Given the description of an element on the screen output the (x, y) to click on. 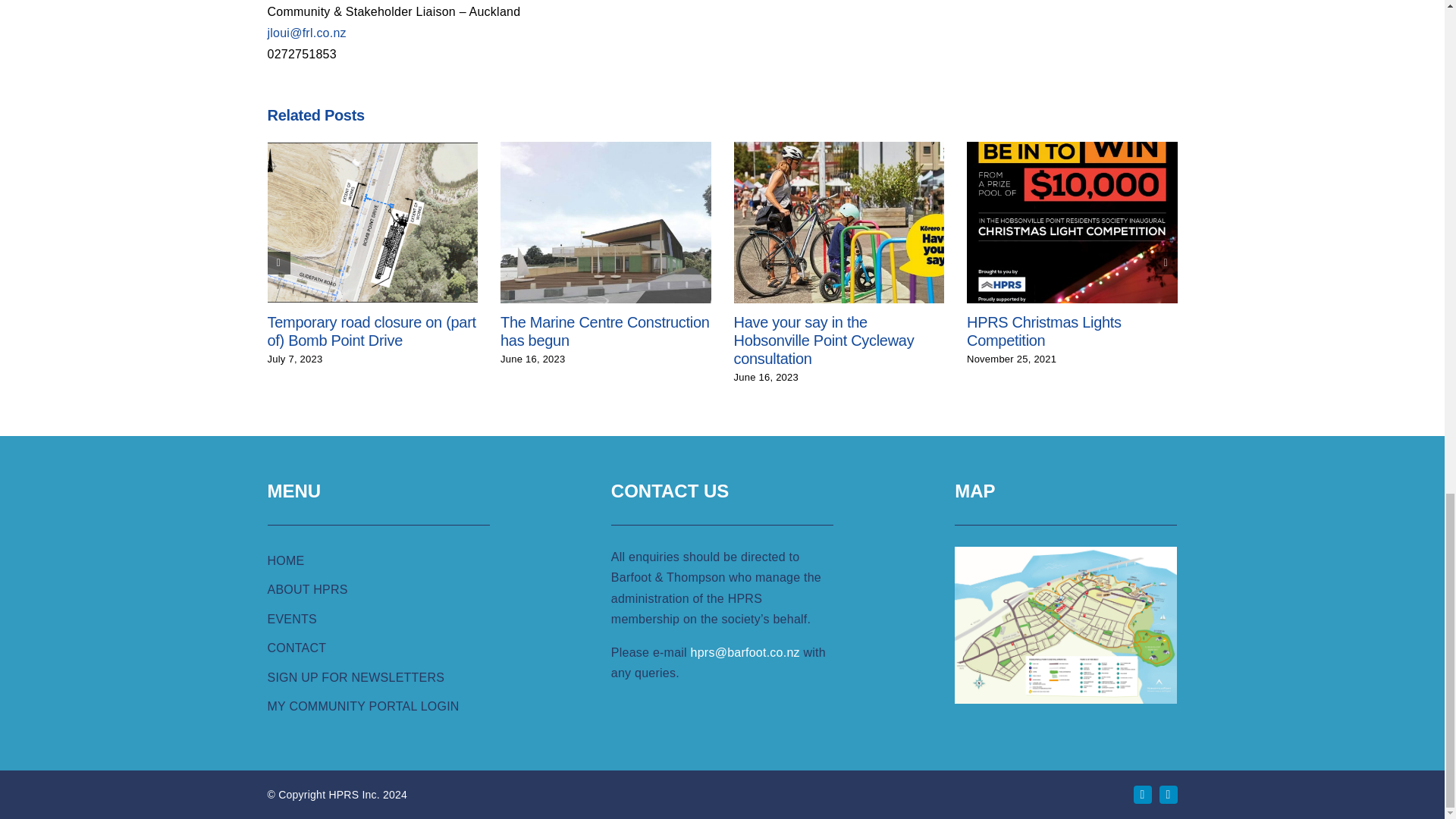
Instagram (1167, 794)
The Marine Centre Construction has begun (605, 330)
Have your say in the Hobsonville Point Cycleway consultation (823, 339)
Facebook (1141, 794)
HPRS Christmas Lights Competition (1043, 330)
